Given the description of an element on the screen output the (x, y) to click on. 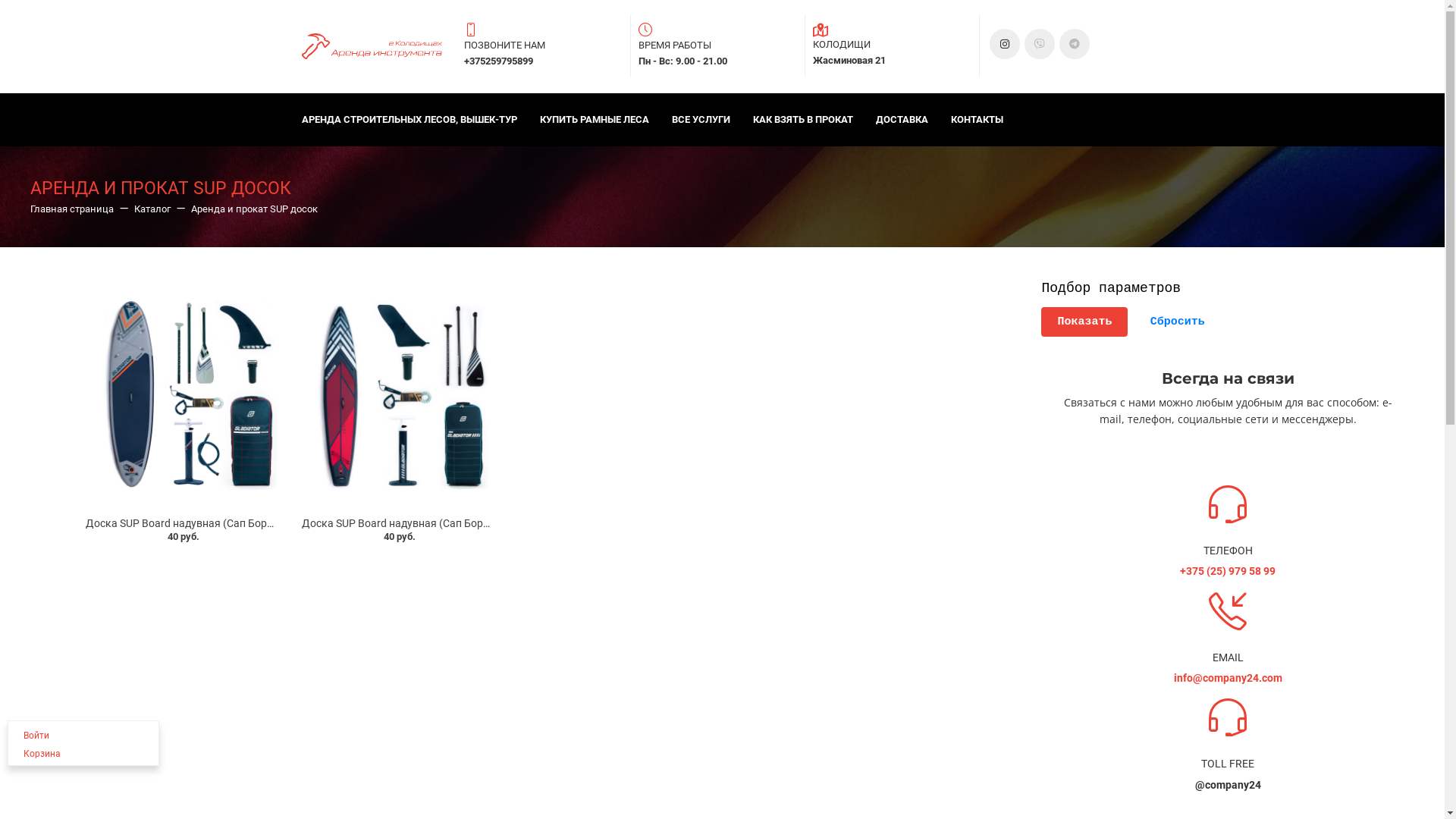
EMAIL
info@company24.com Element type: text (1227, 638)
